Given the description of an element on the screen output the (x, y) to click on. 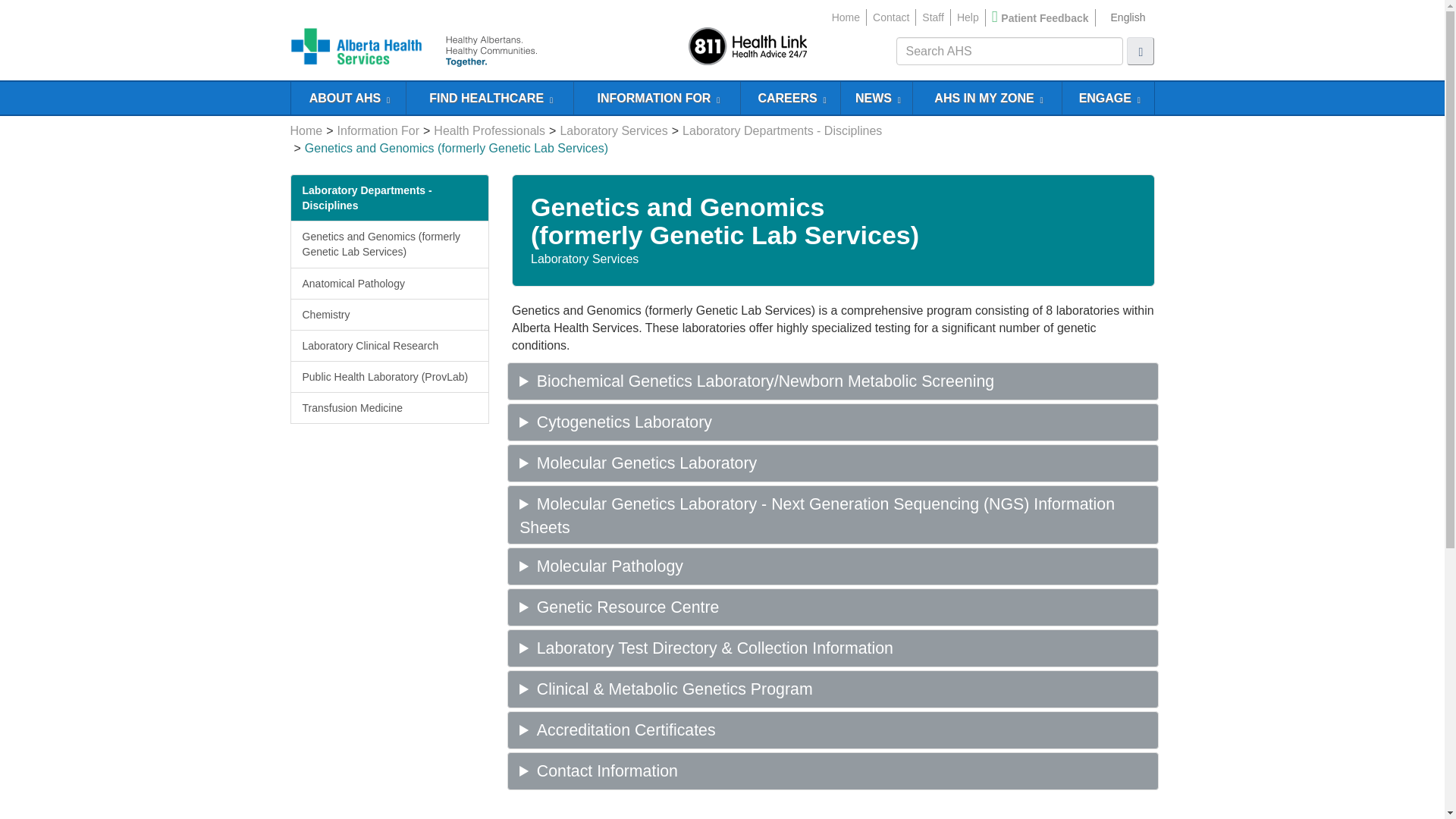
Staff (932, 17)
Home (845, 17)
Contact (890, 17)
Help (967, 17)
Patient Feedback (1044, 18)
English (1127, 17)
